Given the description of an element on the screen output the (x, y) to click on. 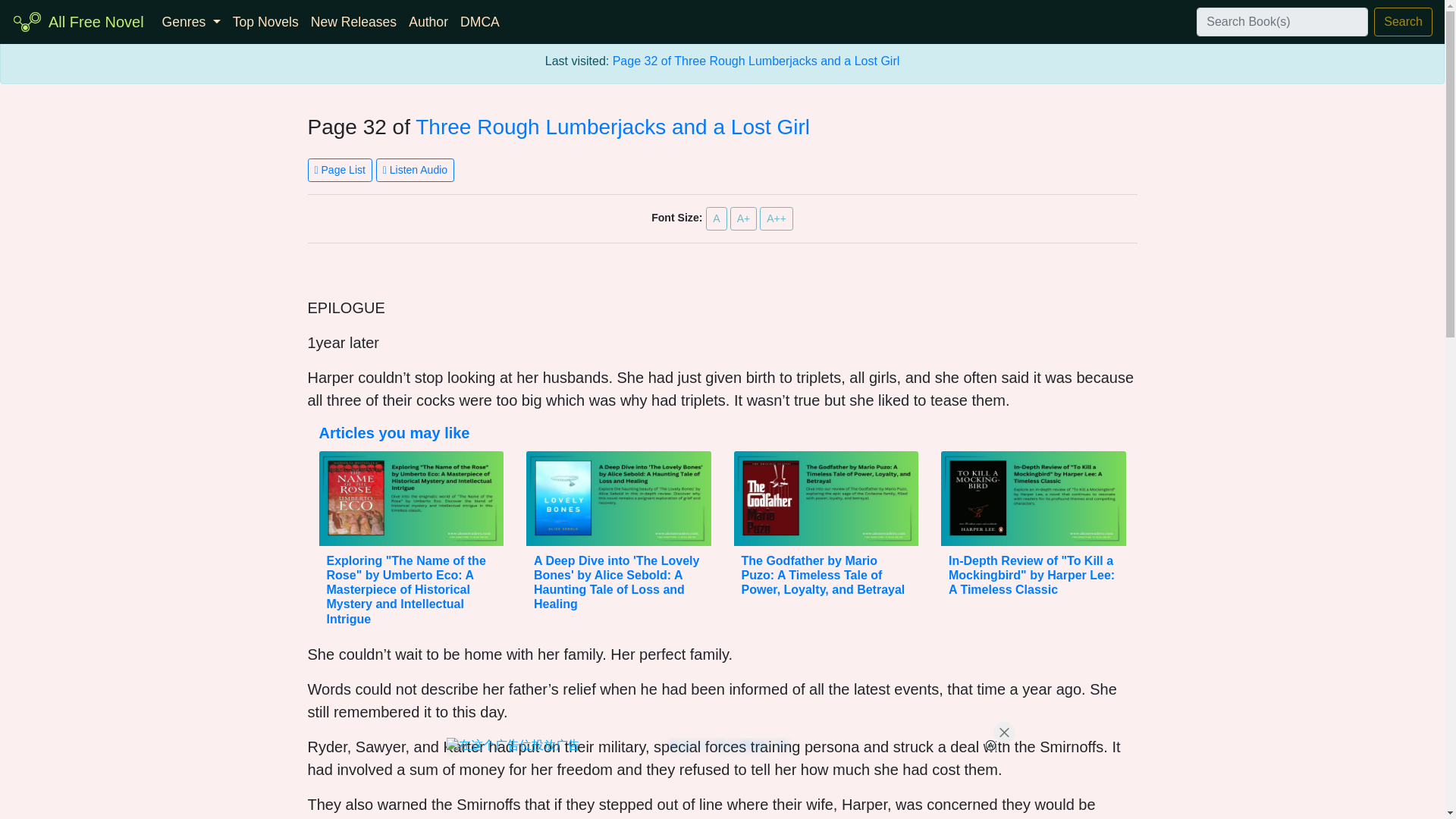
Page List (339, 169)
Page 32 of Three Rough Lumberjacks and a Lost Girl (755, 60)
Author List (428, 21)
Listen Audio (414, 169)
Home (96, 21)
Last Updated Books (353, 21)
All Free Novel (96, 21)
Top Novels (265, 21)
Author (428, 21)
New Releases (353, 21)
DMCA (479, 21)
Search (1403, 21)
